Given the description of an element on the screen output the (x, y) to click on. 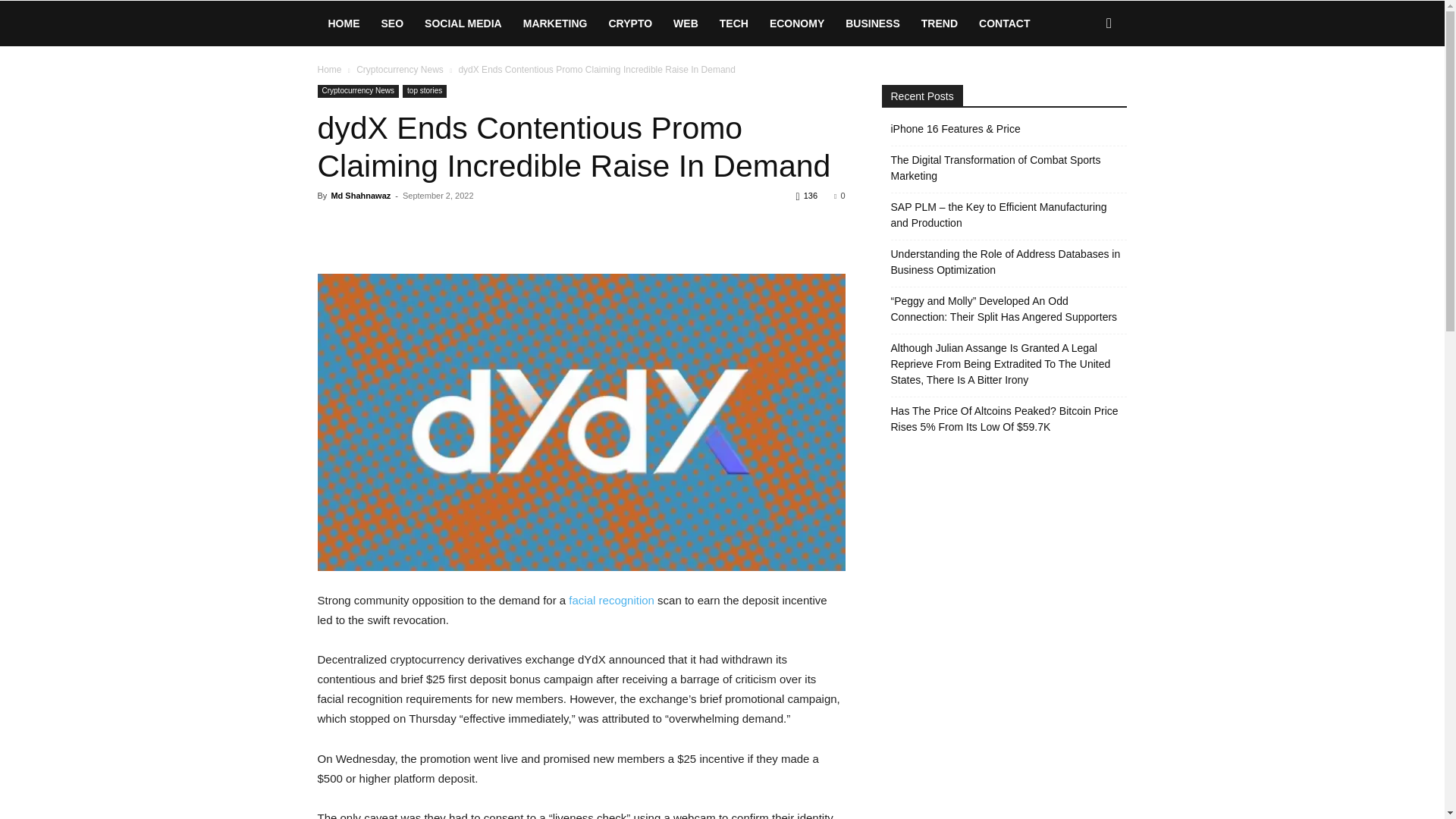
SEO (391, 22)
View all posts in Cryptocurrency News (400, 69)
HOME (343, 22)
SOCIAL MEDIA (462, 22)
